Given the description of an element on the screen output the (x, y) to click on. 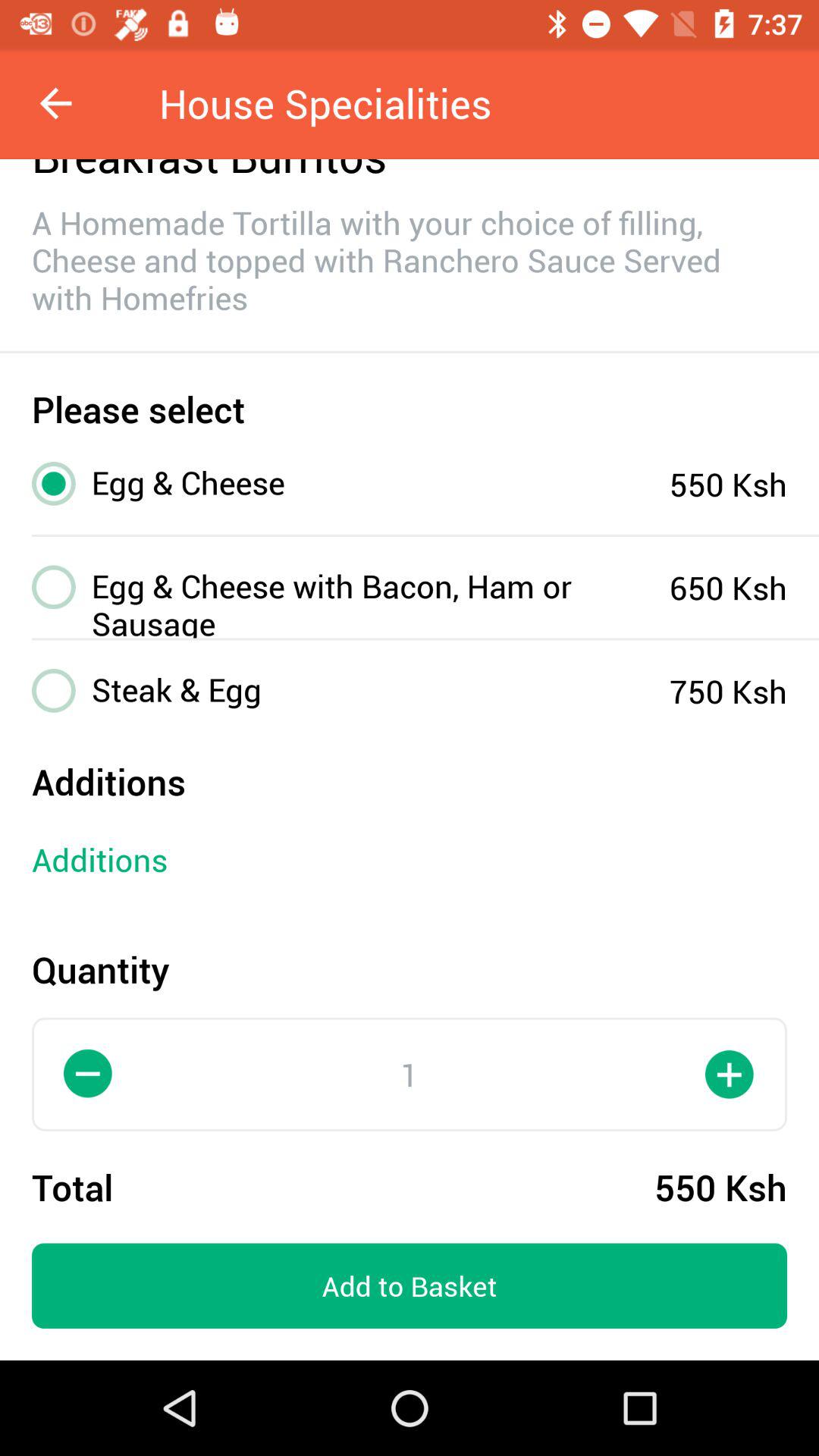
tap the item below the quantity icon (88, 1074)
